Given the description of an element on the screen output the (x, y) to click on. 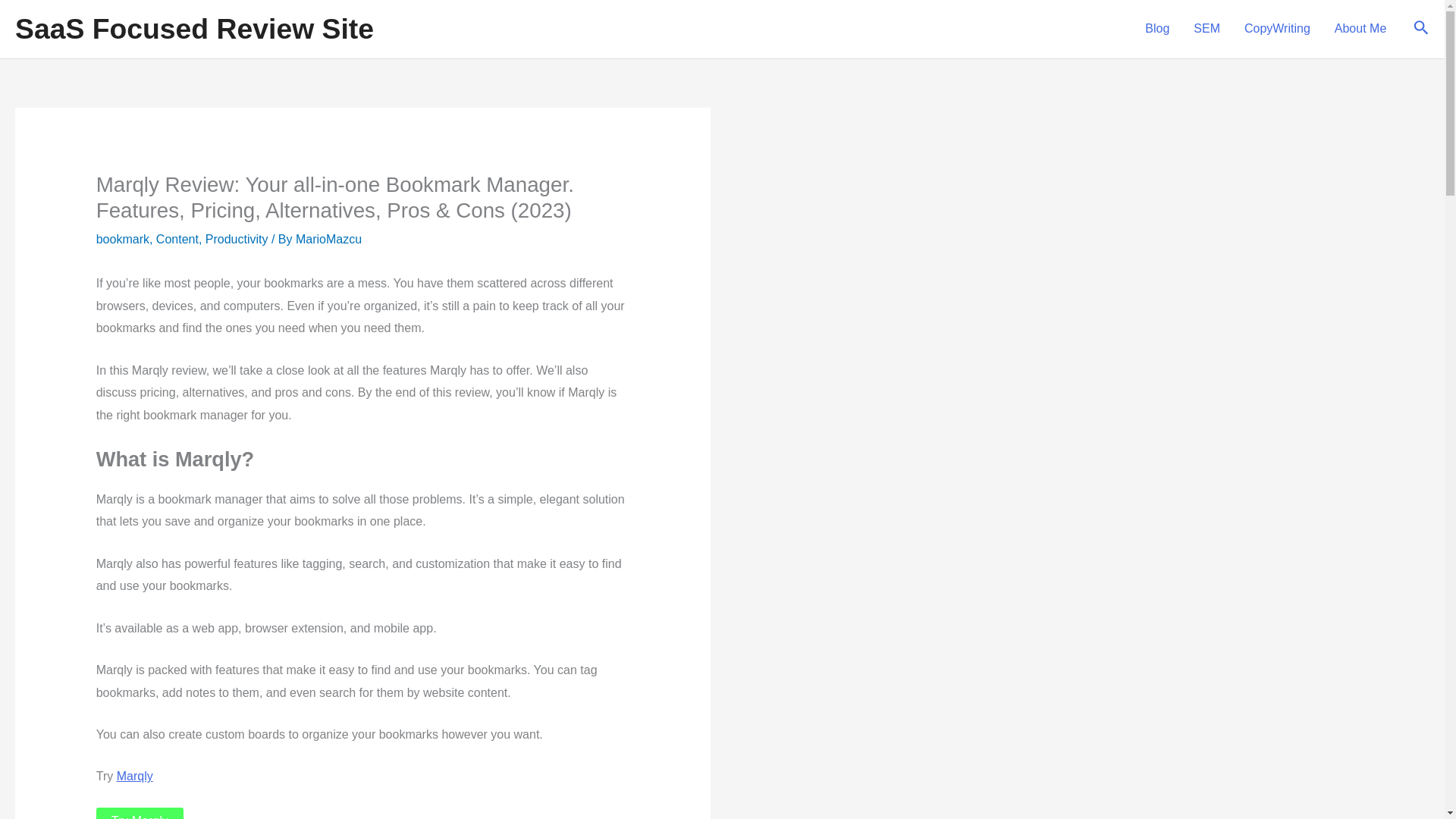
bookmark (122, 238)
Blog (1156, 28)
Marqly (134, 775)
About Me (1359, 28)
CopyWriting (1276, 28)
SaaS Focused Review Site (194, 29)
View all posts by MarioMazcu (328, 238)
Try Marqly (139, 813)
Productivity (236, 238)
MarioMazcu (328, 238)
Content (176, 238)
SEM (1205, 28)
